Given the description of an element on the screen output the (x, y) to click on. 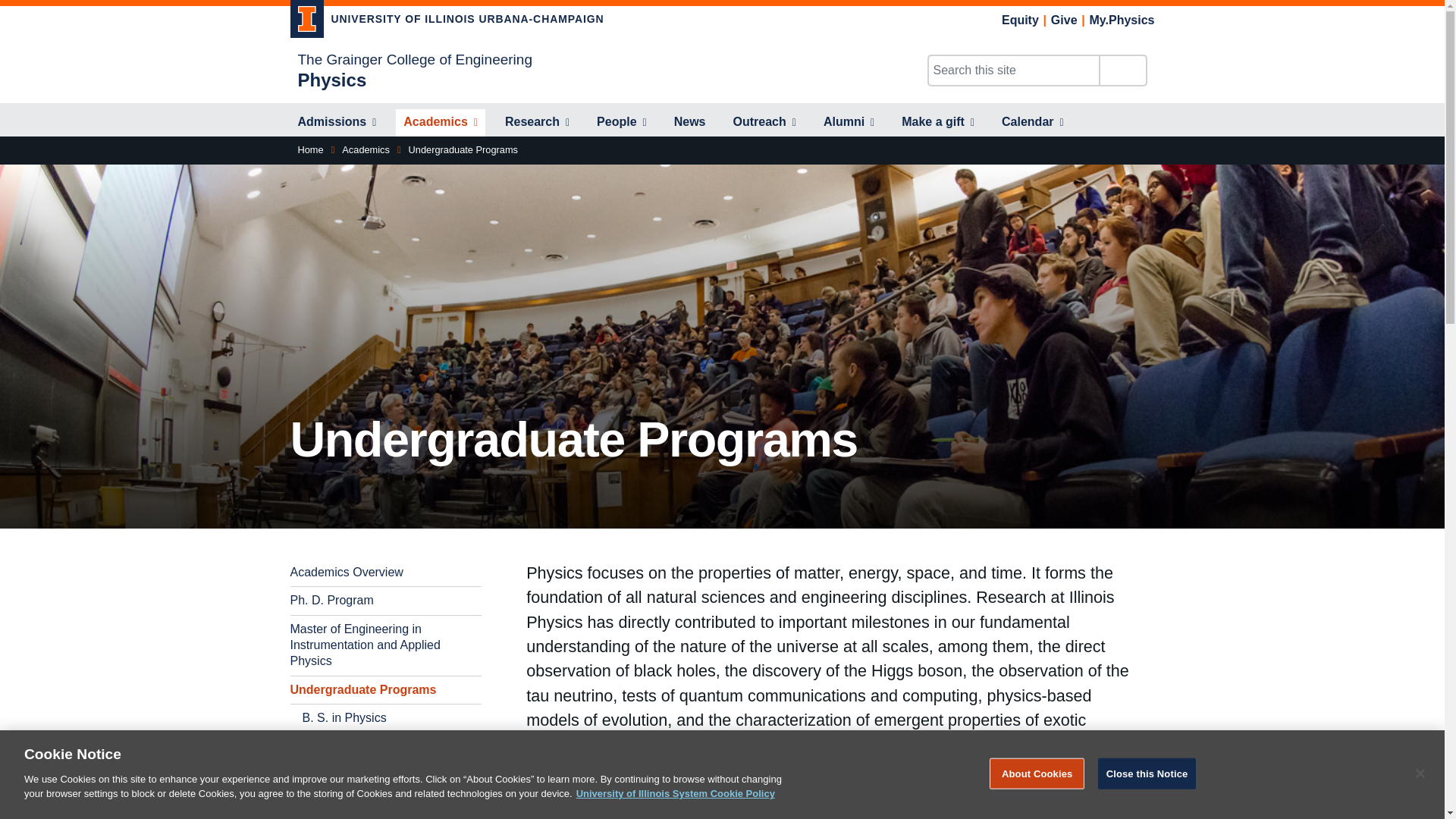
UNIVERSITY OF ILLINOIS URBANA-CHAMPAIGN (446, 21)
Give (1064, 19)
The Grainger College of Engineering (414, 59)
Search (1121, 70)
Equity (1020, 19)
Academics (440, 122)
Admissions (336, 122)
Physics (331, 79)
My.Physics (1121, 19)
